Given the description of an element on the screen output the (x, y) to click on. 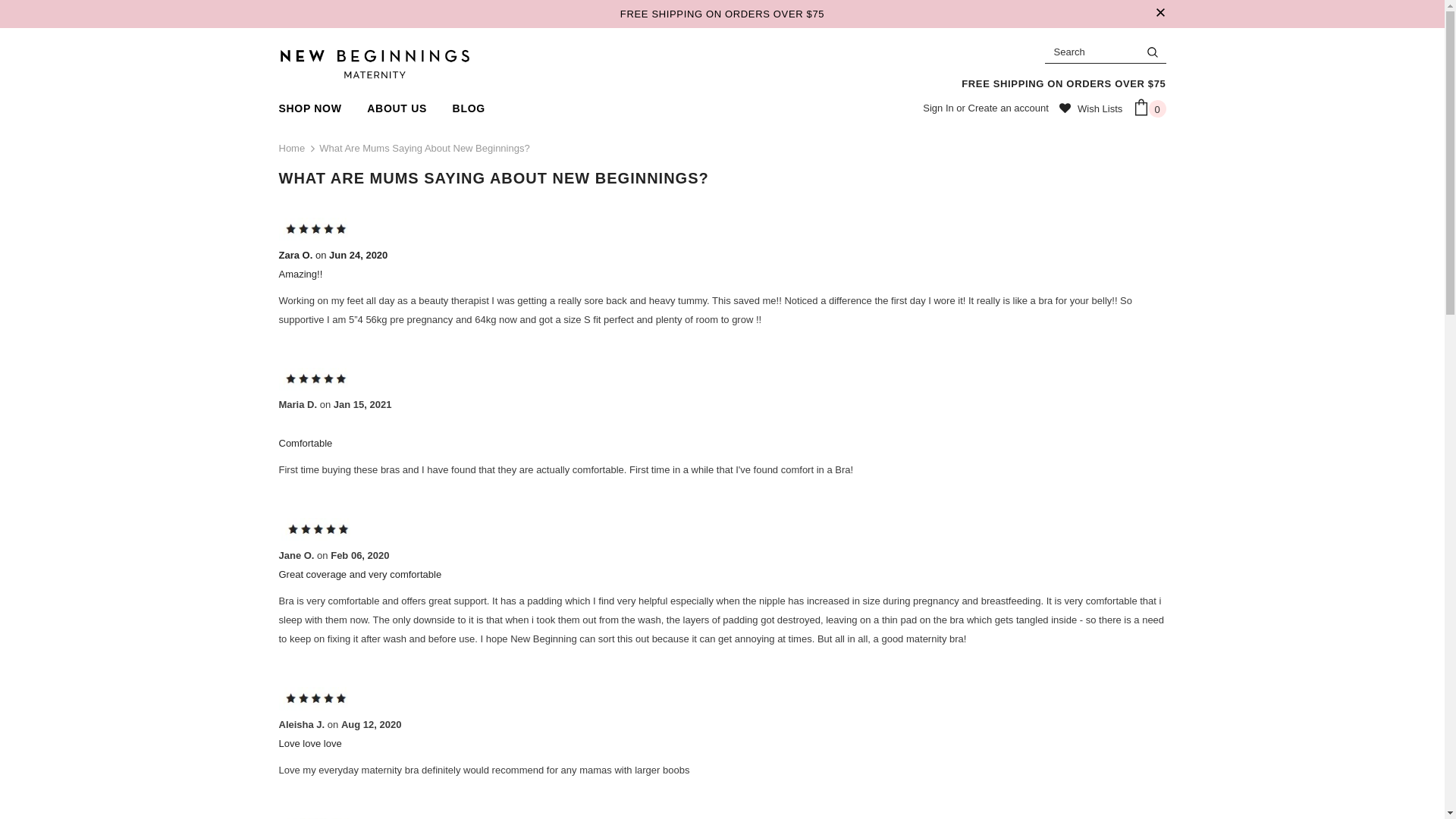
Home Element type: text (292, 147)
ABOUT US Element type: text (396, 107)
0 Element type: text (1149, 109)
BLOG Element type: text (468, 107)
Wish Lists Element type: text (1090, 109)
SHOP NOW Element type: text (310, 107)
close Element type: hover (1159, 13)
Create an account Element type: text (1008, 107)
Logo Element type: hover (374, 63)
Sign In Element type: text (939, 107)
